Given the description of an element on the screen output the (x, y) to click on. 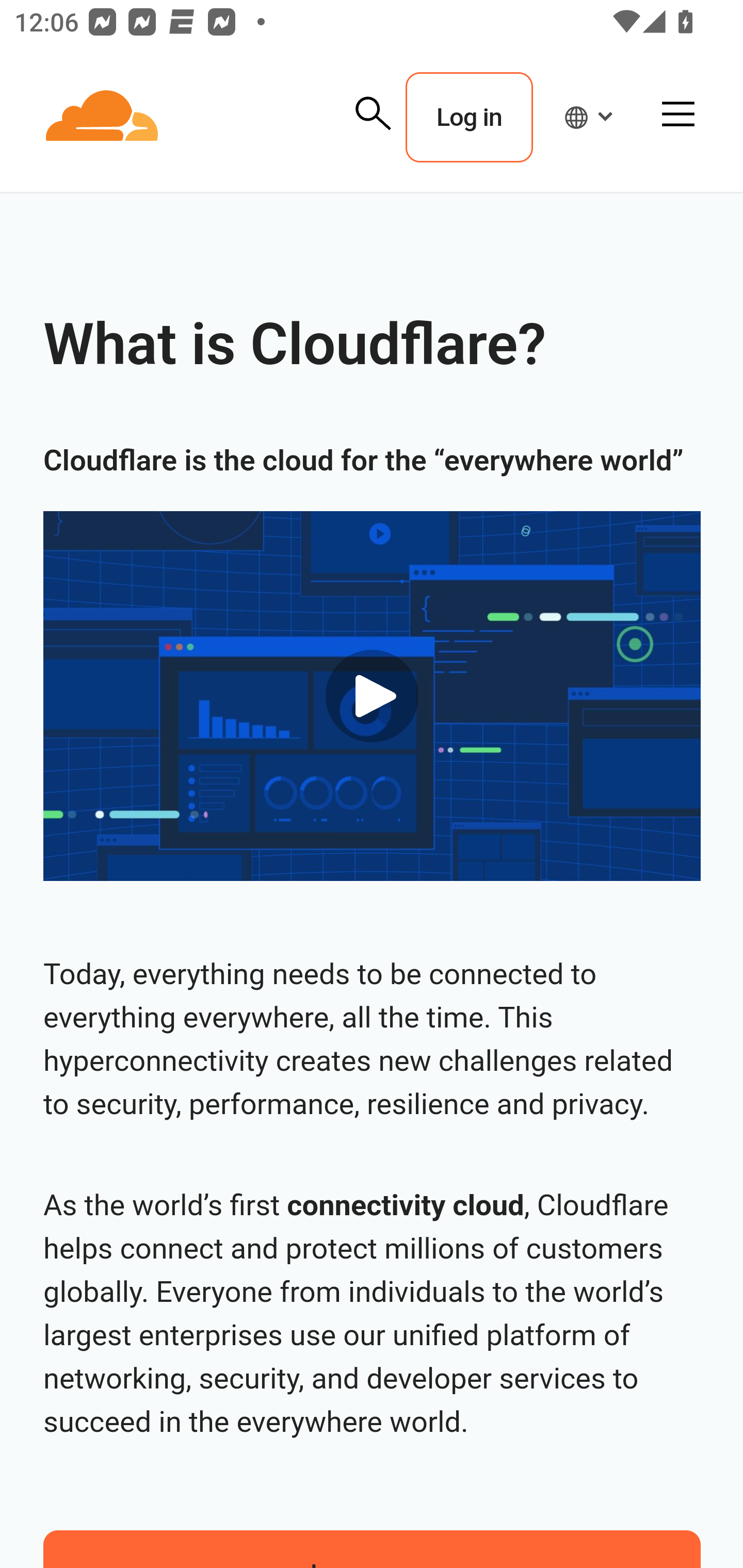
Log in (469, 117)
www.cloudflare (102, 117)
Play Video (372, 695)
Play Video (372, 695)
